Given the description of an element on the screen output the (x, y) to click on. 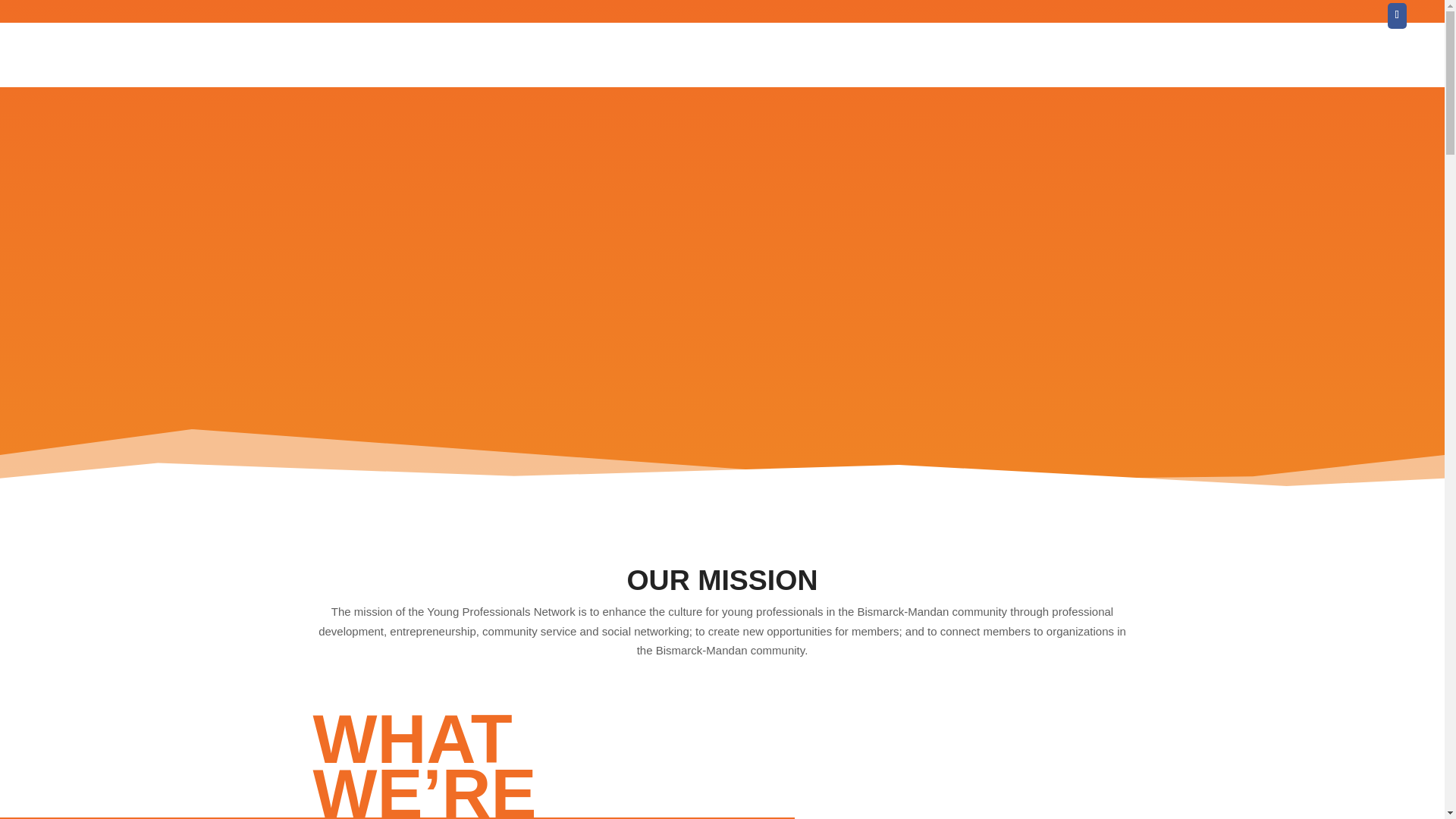
MEMBERSHIP ACCOUNT (1224, 66)
JOB BOARD (1103, 66)
EVENTS (754, 66)
CONTACT US (1386, 66)
ARTICLES (1019, 66)
PARTNERS (822, 66)
ABOUT (955, 66)
AWARDS (894, 66)
